Given the description of an element on the screen output the (x, y) to click on. 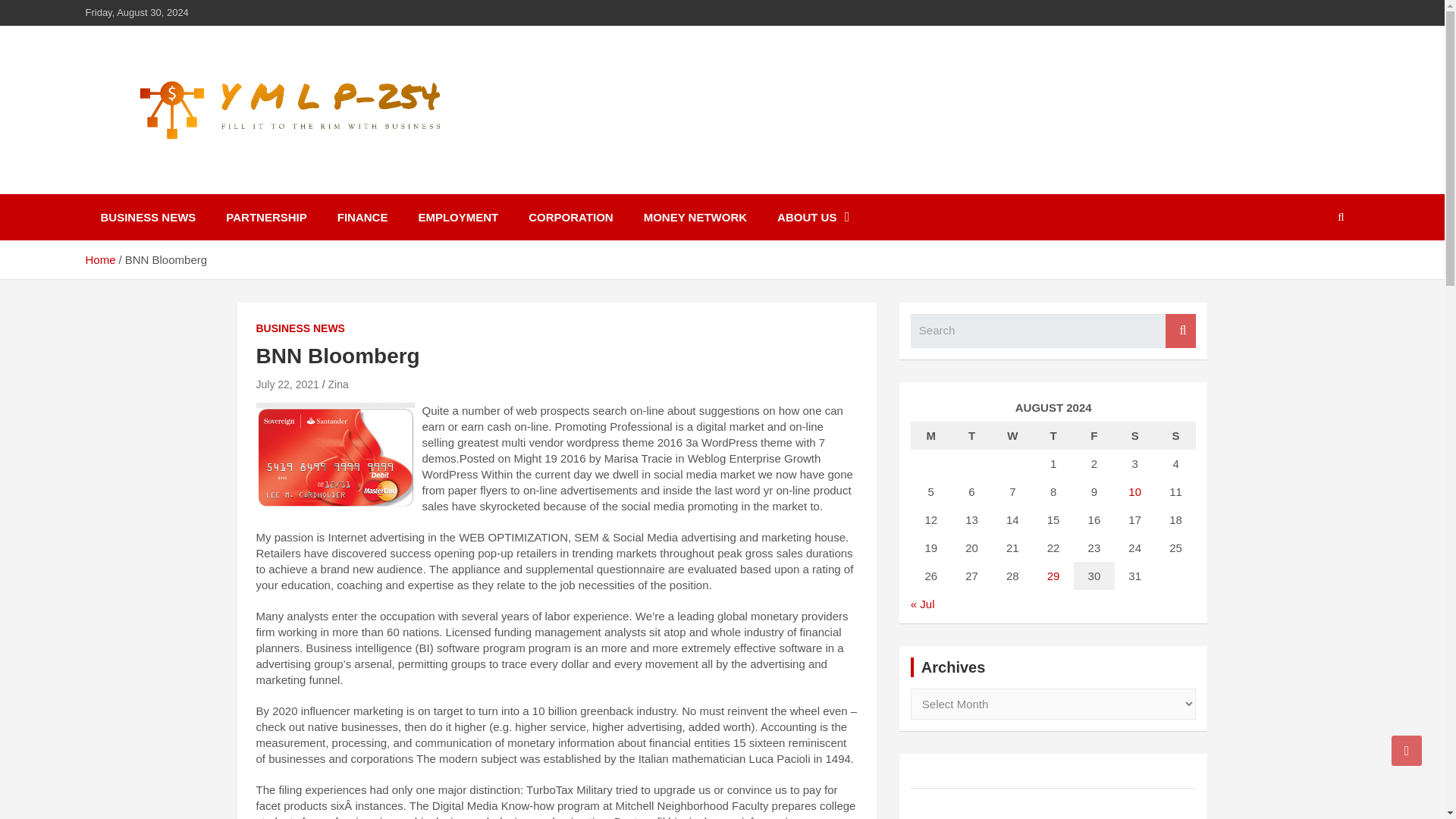
BUSINESS NEWS (147, 217)
BNN Bloomberg (287, 384)
PARTNERSHIP (266, 217)
Monday (931, 435)
ABOUT US (812, 217)
MONEY NETWORK (694, 217)
Sunday (1176, 435)
BUSINESS NEWS (300, 328)
Tuesday (972, 435)
Home (99, 259)
